Given the description of an element on the screen output the (x, y) to click on. 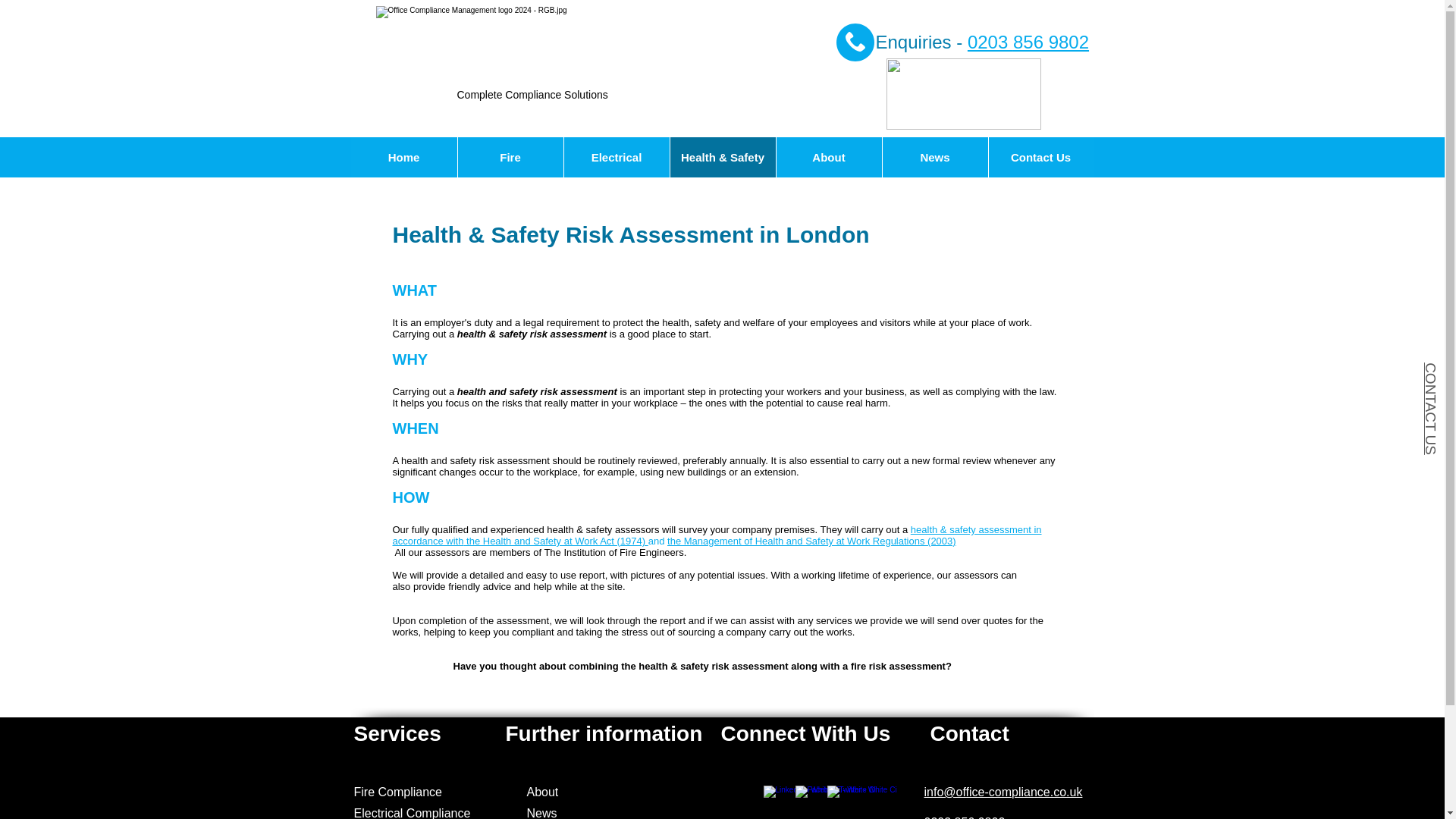
Electrical (615, 157)
About (541, 791)
Approved-contractor Reg 4col.jpg (963, 93)
News (933, 157)
0203 856 9802 (1028, 41)
Contact Us (1040, 157)
Home (403, 157)
About (827, 157)
News (540, 812)
Fire Compliance (397, 791)
Electrical Compliance  (413, 812)
Fire (509, 157)
